Given the description of an element on the screen output the (x, y) to click on. 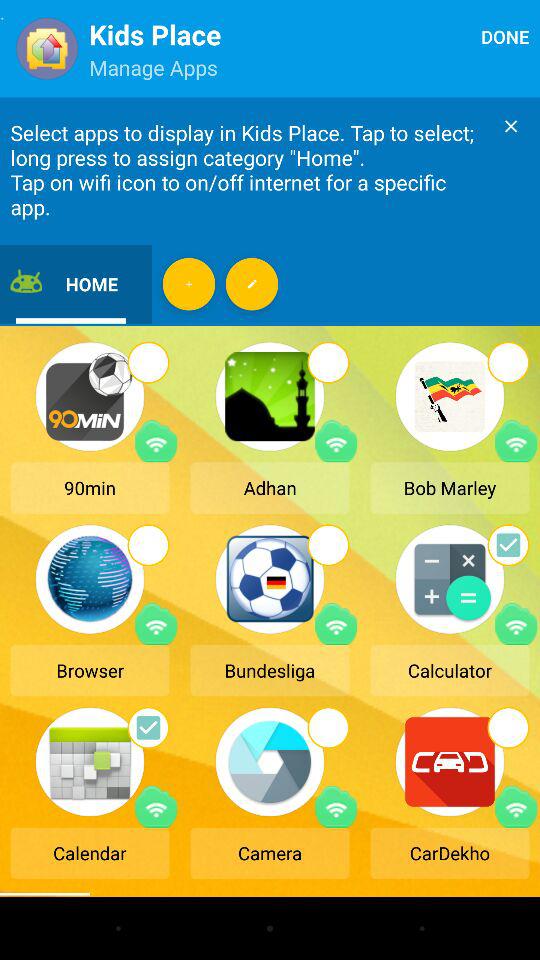
wifi option (516, 806)
